Given the description of an element on the screen output the (x, y) to click on. 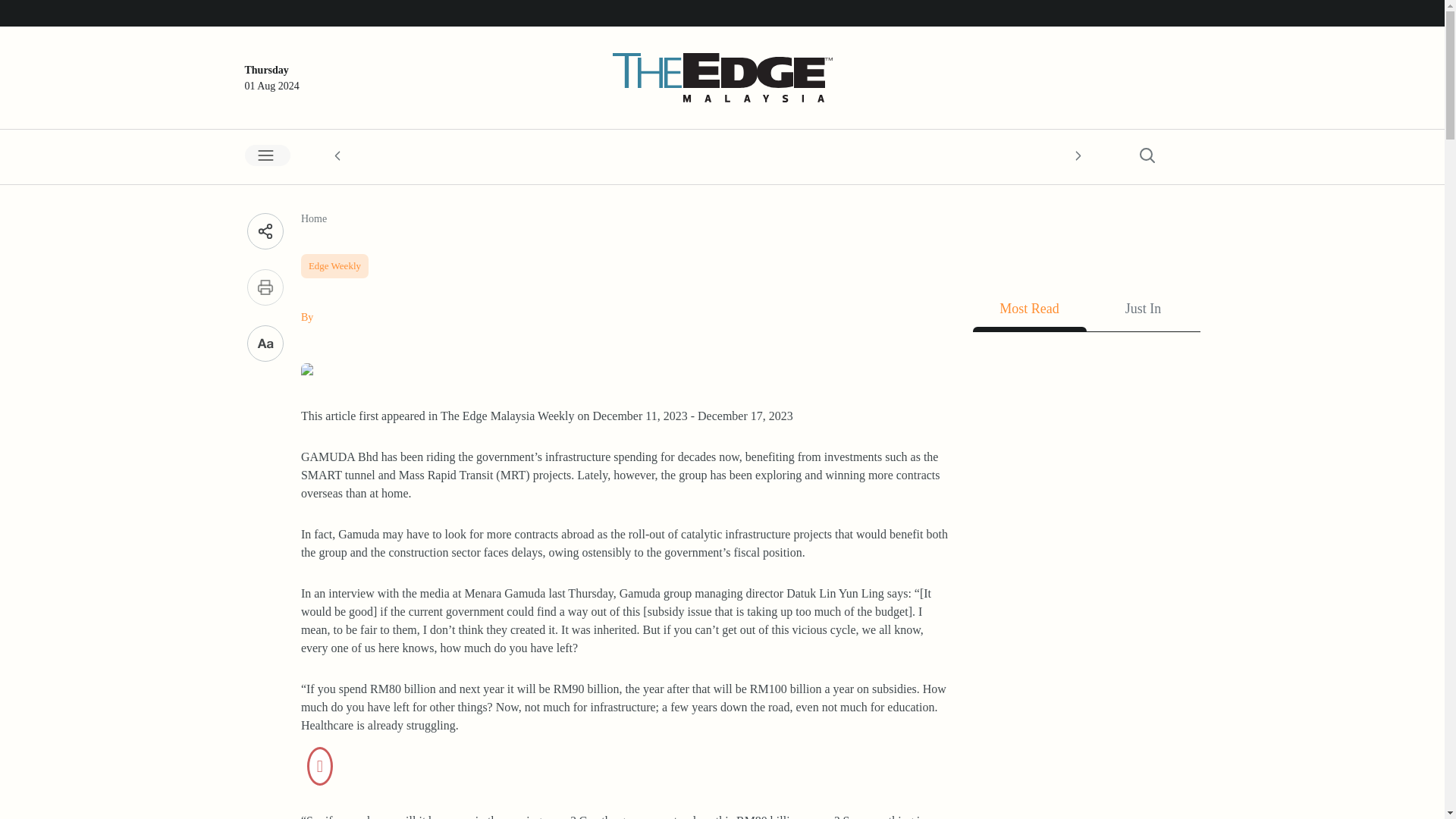
Just In (1142, 312)
Edge Weekly (334, 262)
Most Read (1029, 312)
Home (313, 218)
